Given the description of an element on the screen output the (x, y) to click on. 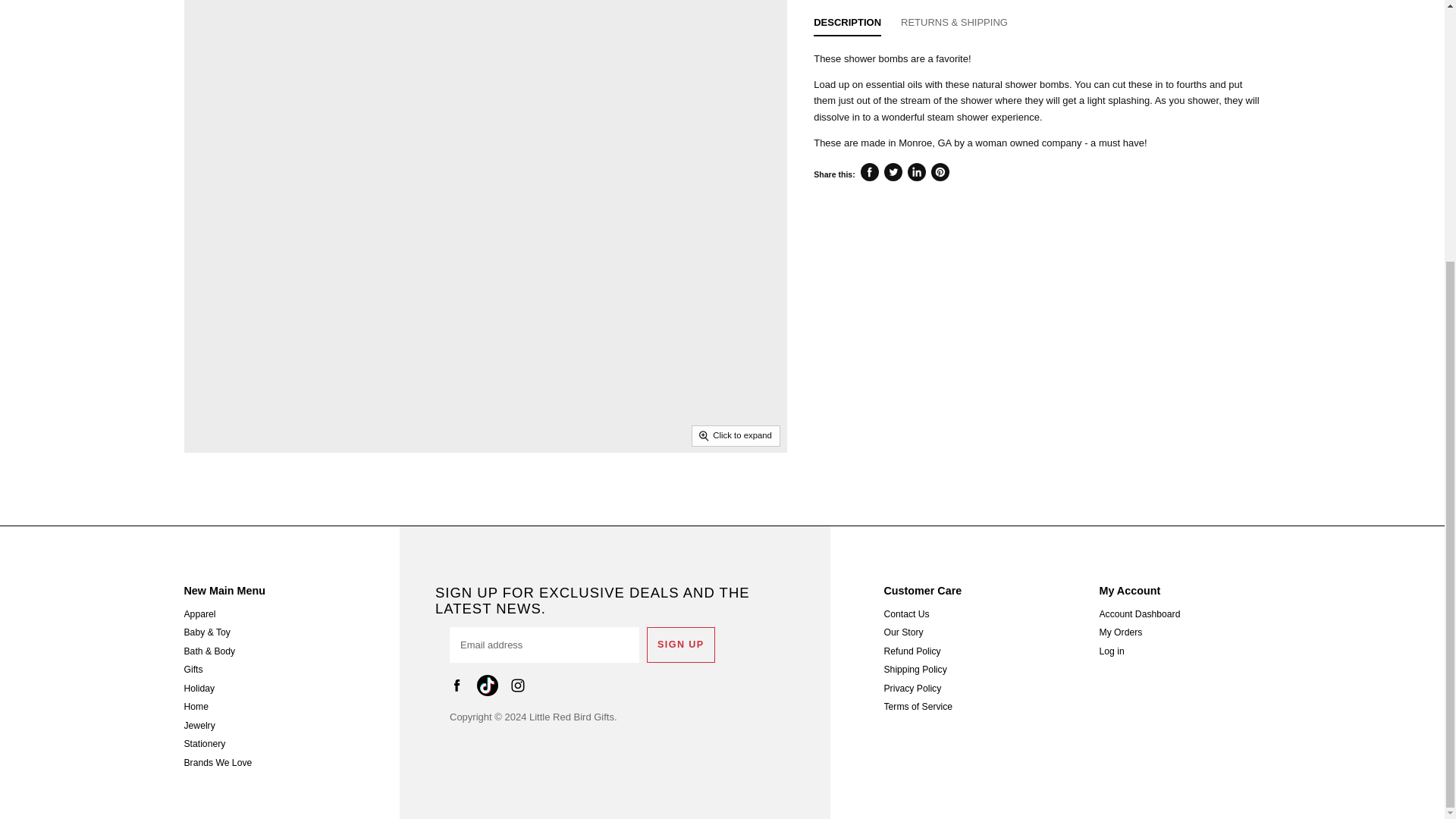
TikTok (490, 687)
Facebook (460, 687)
Instagram (520, 687)
